Given the description of an element on the screen output the (x, y) to click on. 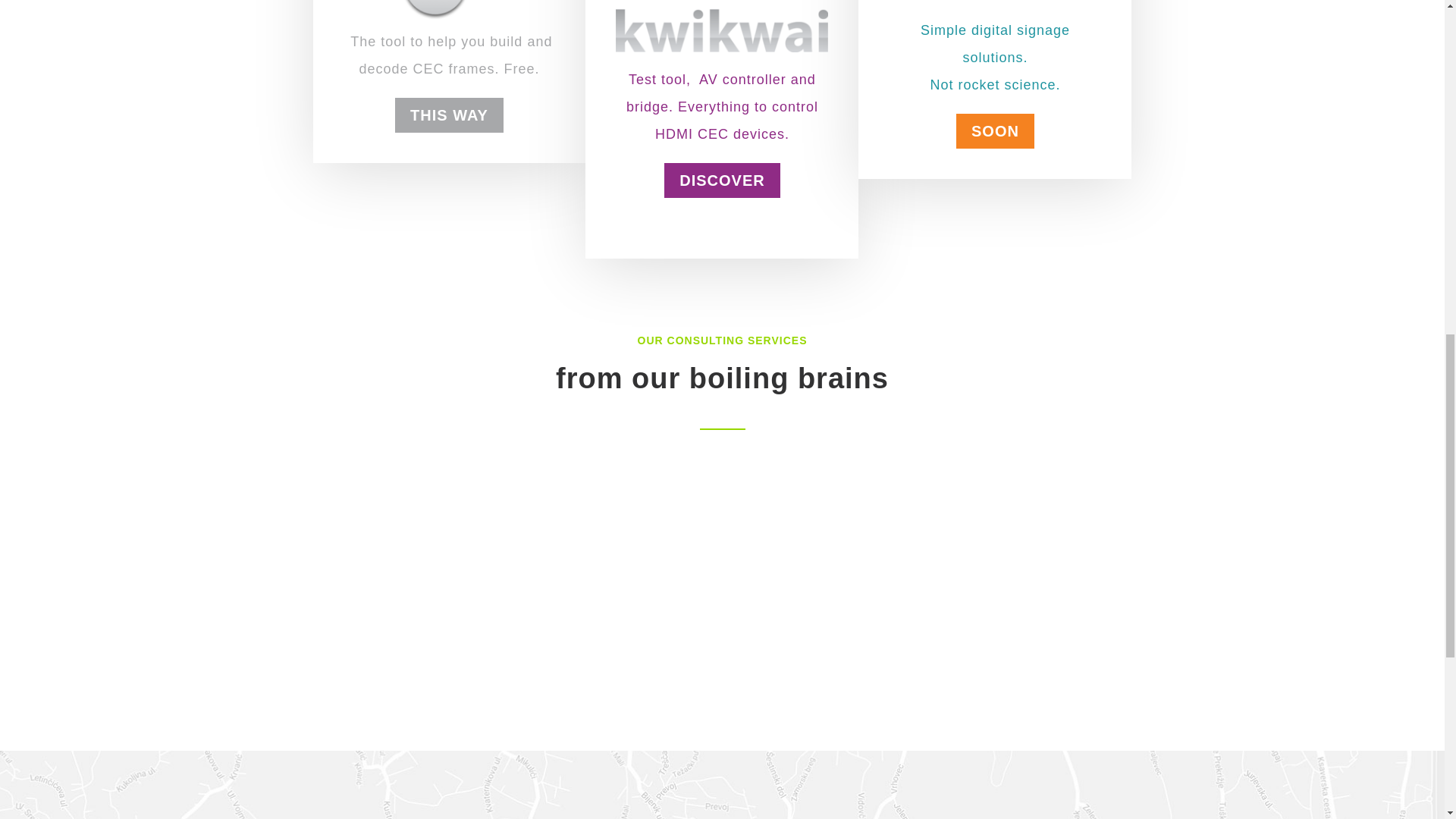
SOON (994, 201)
DISCOVER (720, 318)
THIS WAY (448, 161)
